Given the description of an element on the screen output the (x, y) to click on. 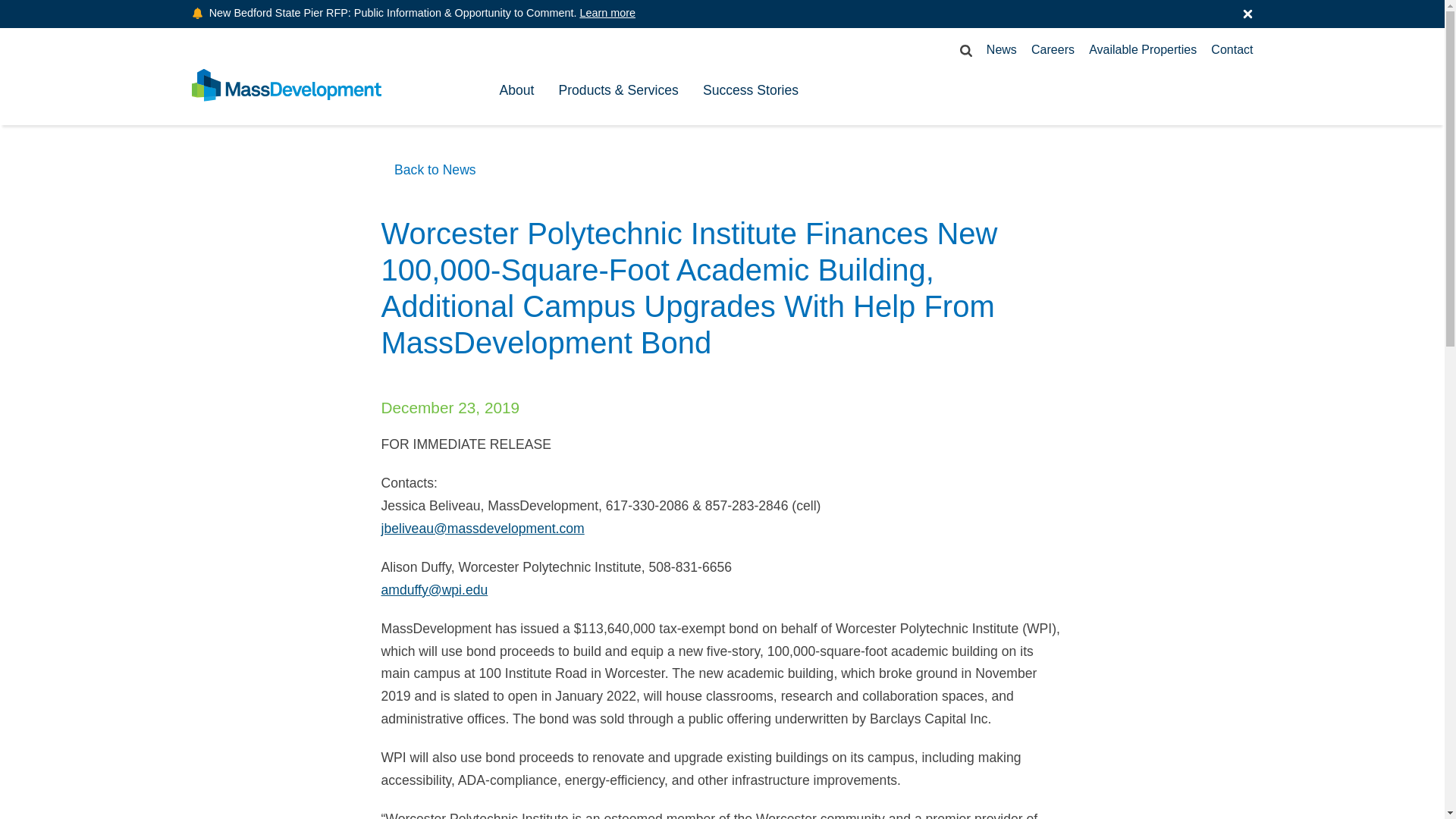
Contact (1231, 50)
Available Properties (1142, 50)
Careers (1052, 50)
News (1001, 50)
Learn more (606, 12)
